Given the description of an element on the screen output the (x, y) to click on. 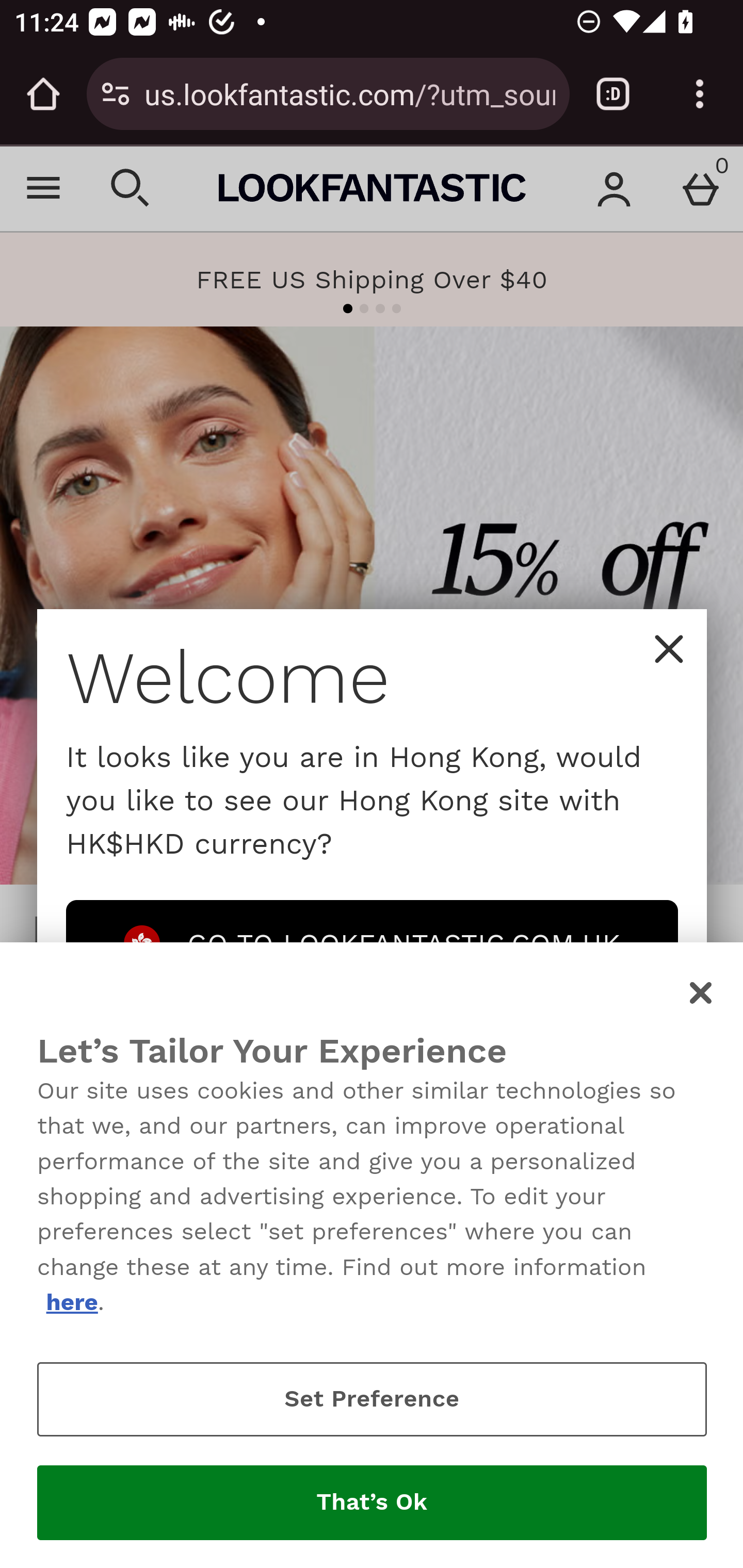
Open the home page (43, 93)
Connection is secure (115, 93)
Switch or close tabs (612, 93)
Customize and control Google Chrome (699, 93)
Open Menu (44, 188)
Open search (130, 188)
Lookfantastic USA (371, 188)
Account menu (614, 188)
Basket Menu (700, 188)
FREE US Shipping Over $40 (371, 279)
Close (669, 648)
Close (701, 992)
No Thanks, Stay on US.LOOKFANTASTIC.COM (372, 1031)
here (71, 1302)
Set Preference (372, 1399)
That’s Ok (372, 1502)
